Given the description of an element on the screen output the (x, y) to click on. 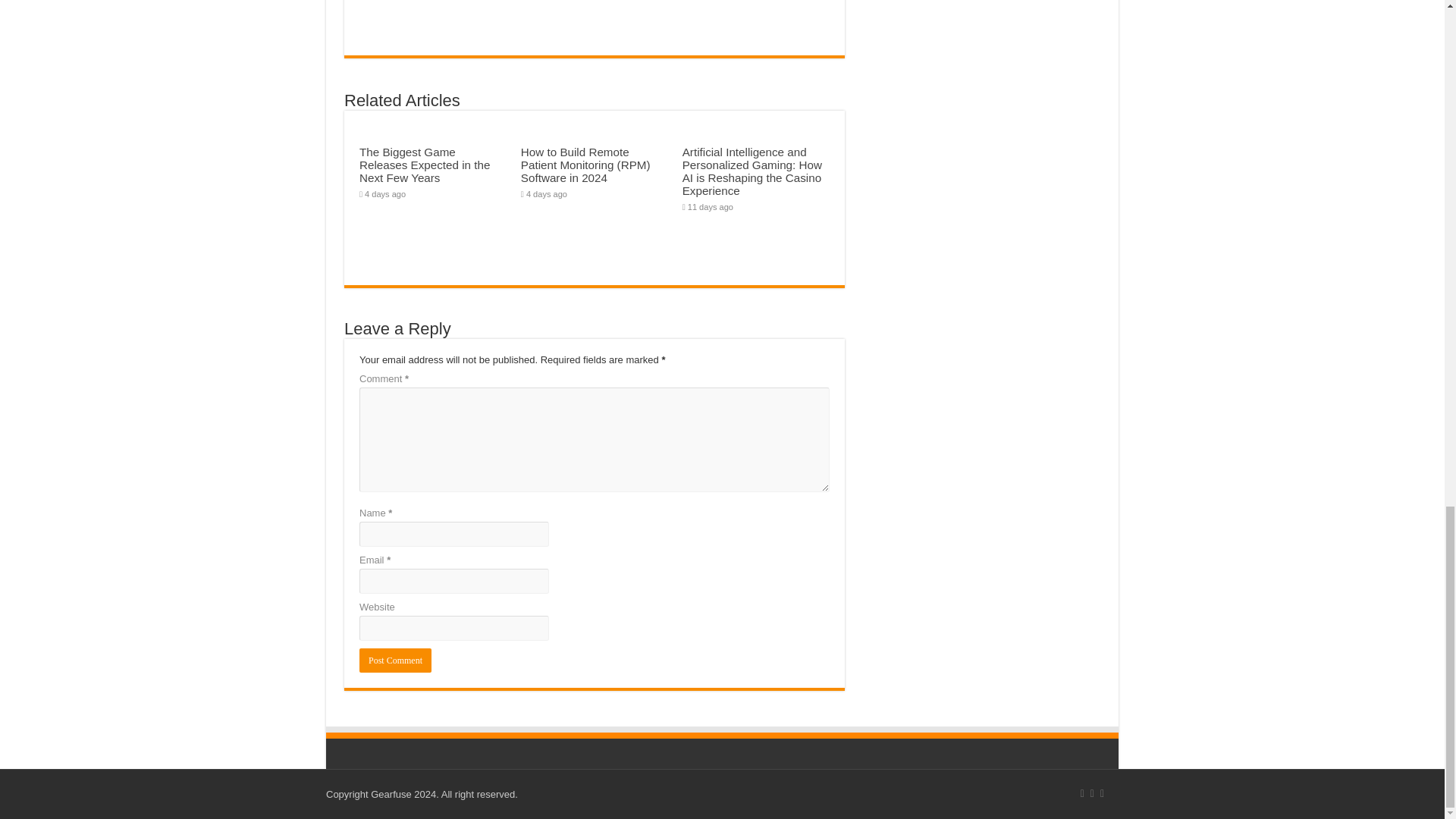
Facebook (1092, 793)
Post Comment (394, 660)
Twitter (1102, 793)
Rss (1082, 793)
